Given the description of an element on the screen output the (x, y) to click on. 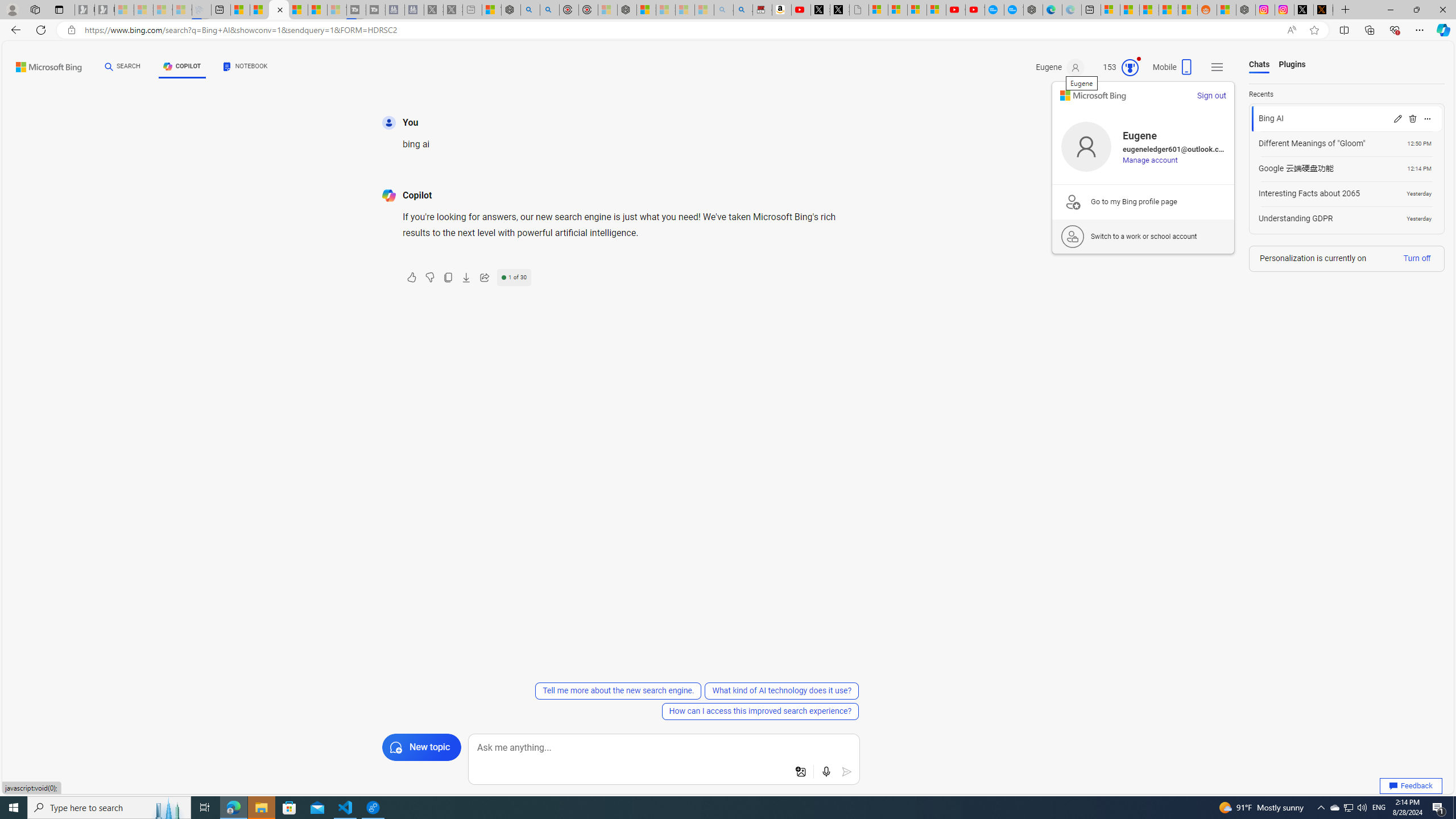
Submit (847, 771)
work signin (1072, 236)
Tab actions menu (58, 9)
How can I access this improved search experience? (759, 711)
App bar (728, 29)
X - Sleeping (452, 9)
Refresh (40, 29)
Close (1442, 9)
microsoft logo (1093, 95)
